Given the description of an element on the screen output the (x, y) to click on. 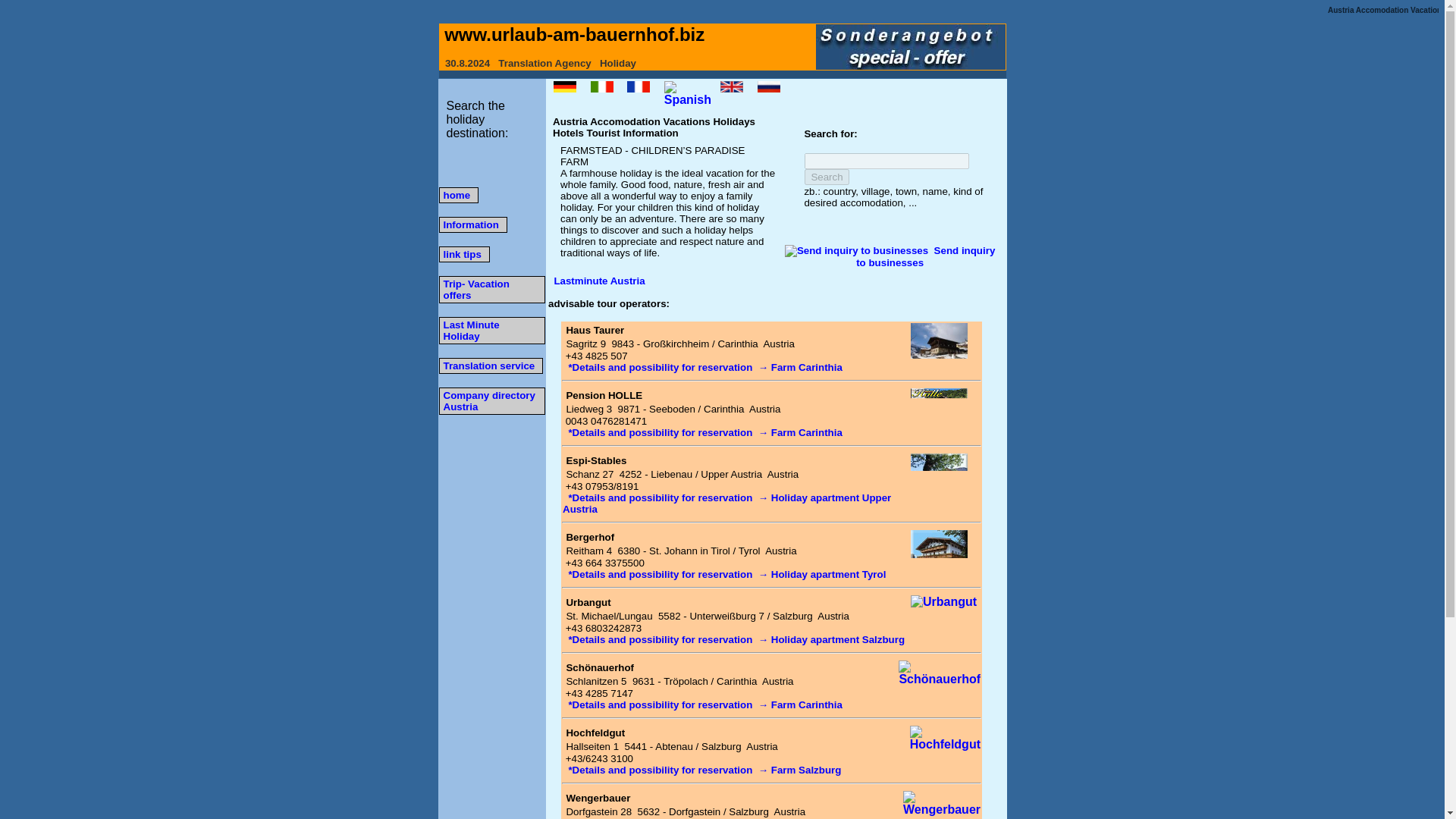
Search (826, 176)
Bergerhof (590, 536)
Lastminute Austria (599, 280)
Urbangut (588, 602)
Information (469, 223)
Last Minute Holiday (470, 329)
Pension HOLLE (604, 395)
Search (826, 176)
Holiday (617, 62)
Trip- Vacation offers (475, 288)
